Given the description of an element on the screen output the (x, y) to click on. 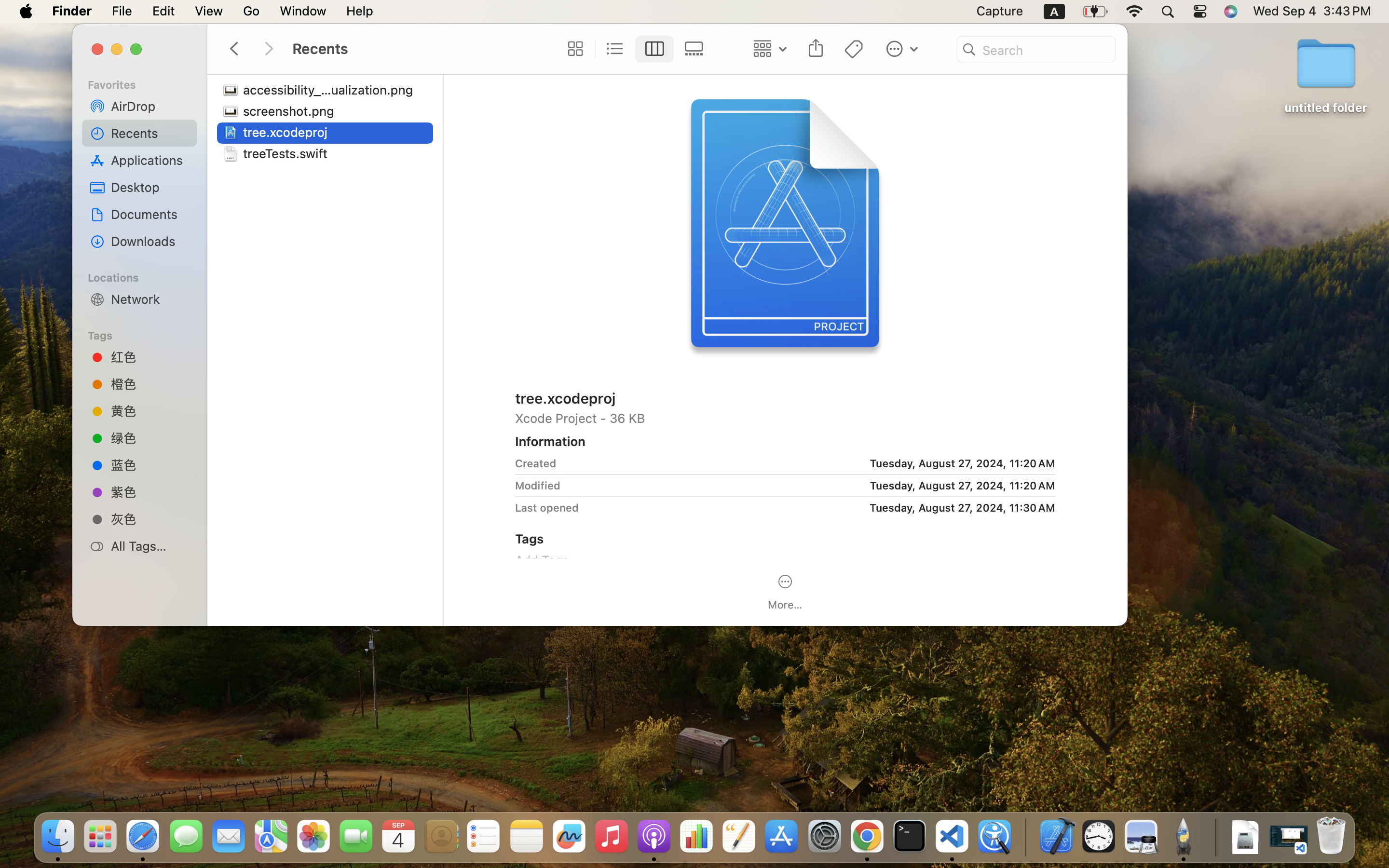
0 Element type: AXRadioButton (572, 48)
红色 Element type: AXStaticText (149, 356)
0.4285714328289032 Element type: AXDockItem (1024, 836)
1 Element type: AXRadioButton (654, 48)
橙色 Element type: AXStaticText (149, 383)
